Given the description of an element on the screen output the (x, y) to click on. 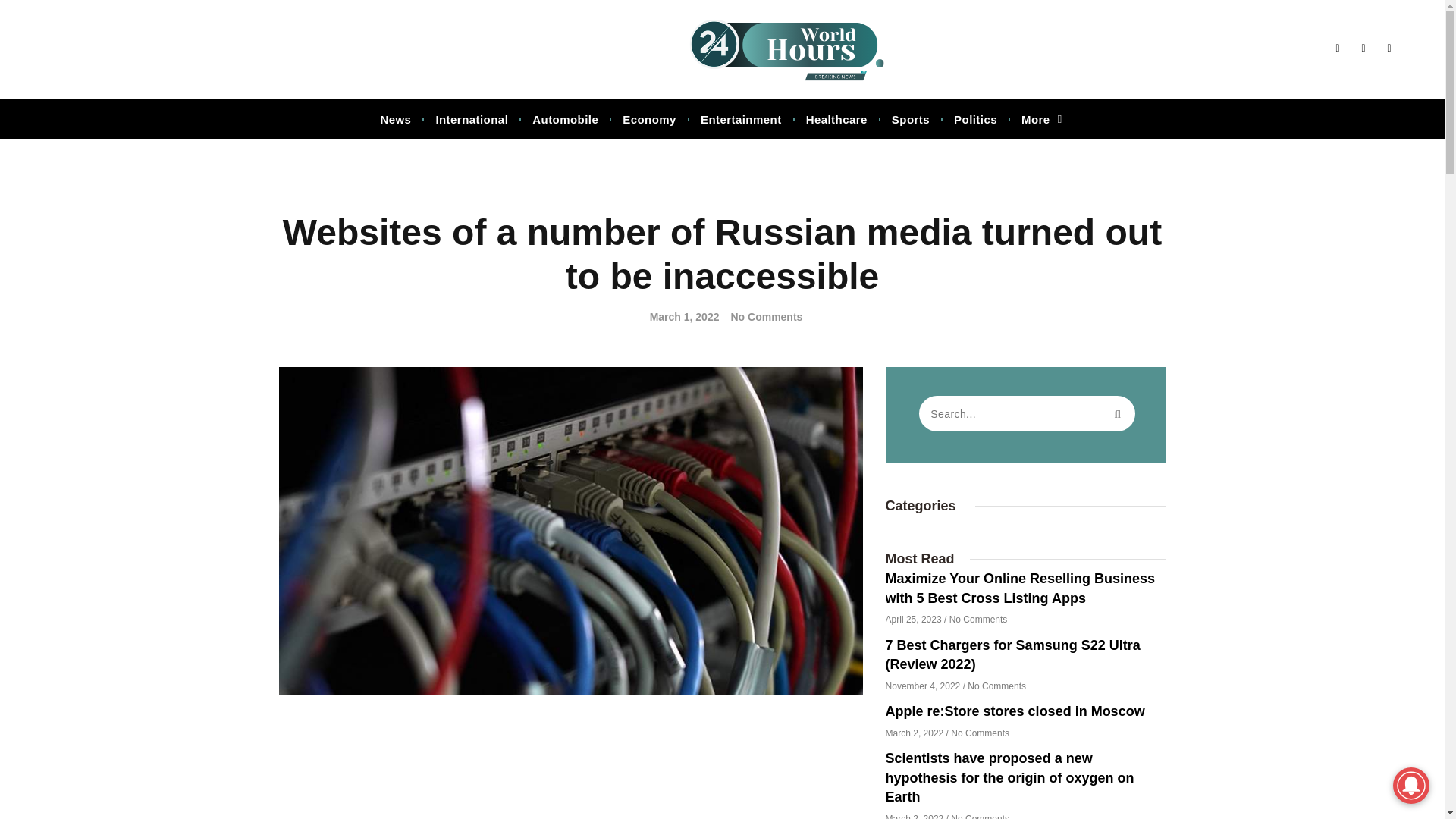
Healthcare (836, 119)
Entertainment (741, 119)
Advertisement (571, 768)
Automobile (564, 119)
Economy (649, 119)
Sports (910, 119)
International (471, 119)
More (1041, 119)
News (395, 119)
Politics (975, 119)
